Given the description of an element on the screen output the (x, y) to click on. 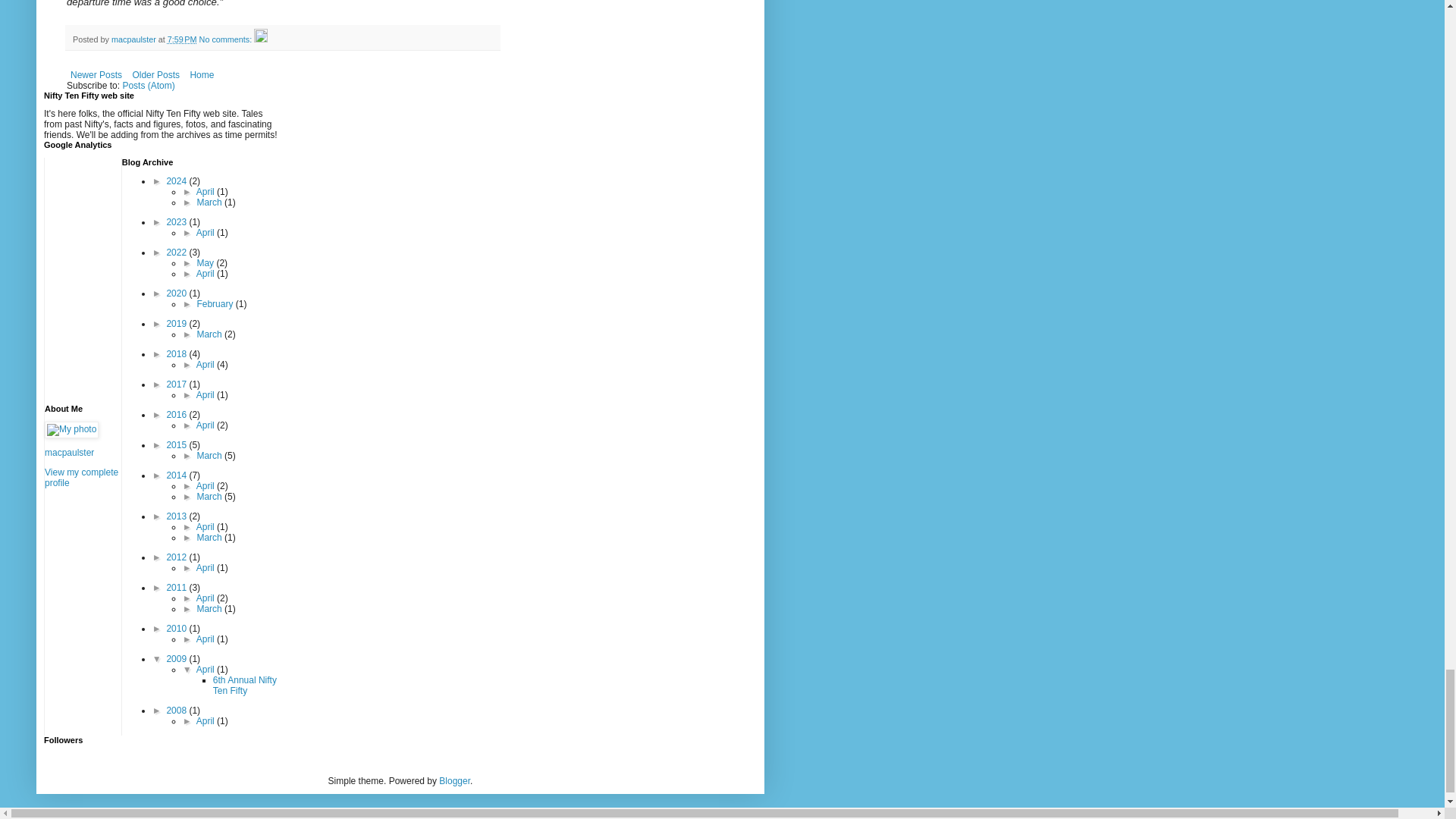
Older Posts (155, 75)
View my complete profile (81, 477)
May (205, 262)
April (206, 273)
Newer Posts (95, 75)
author profile (135, 39)
April (206, 232)
No comments: (226, 39)
February (215, 303)
2020 (177, 293)
Older Posts (155, 75)
Newer Posts (95, 75)
2019 (177, 323)
March (210, 334)
